Given the description of an element on the screen output the (x, y) to click on. 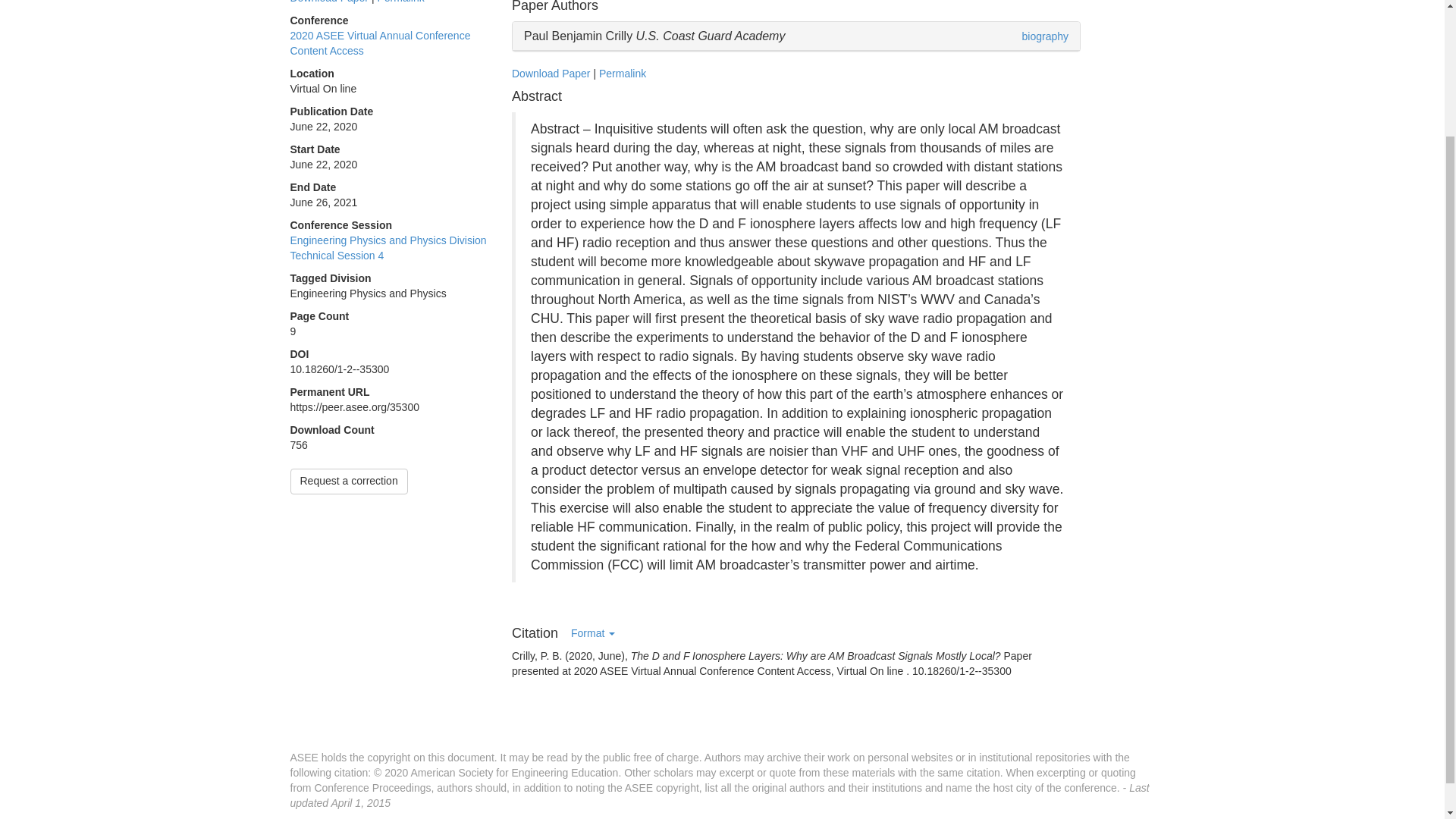
Download Paper (328, 2)
Request a correction (348, 481)
Permalink (400, 2)
Engineering Physics and Physics Division Technical Session 4 (387, 247)
Format (592, 634)
biography (1045, 36)
Permalink (622, 73)
Download Paper (551, 73)
2020 ASEE Virtual Annual Conference Content Access (379, 42)
